Given the description of an element on the screen output the (x, y) to click on. 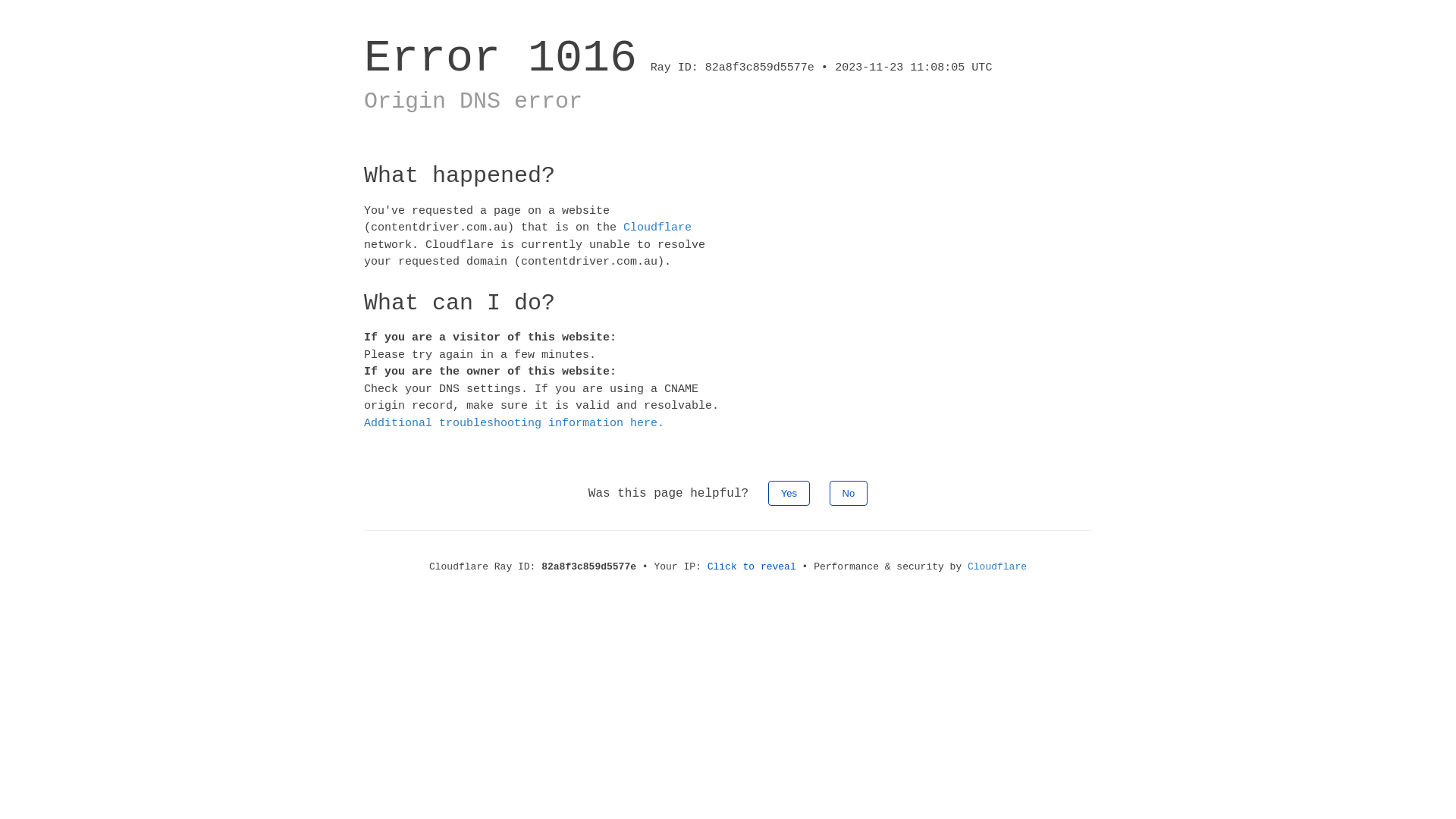
Yes Element type: text (788, 492)
Cloudflare Element type: text (996, 566)
Additional troubleshooting information here. Element type: text (514, 423)
Cloudflare Element type: text (657, 227)
Click to reveal Element type: text (751, 566)
No Element type: text (848, 492)
